Given the description of an element on the screen output the (x, y) to click on. 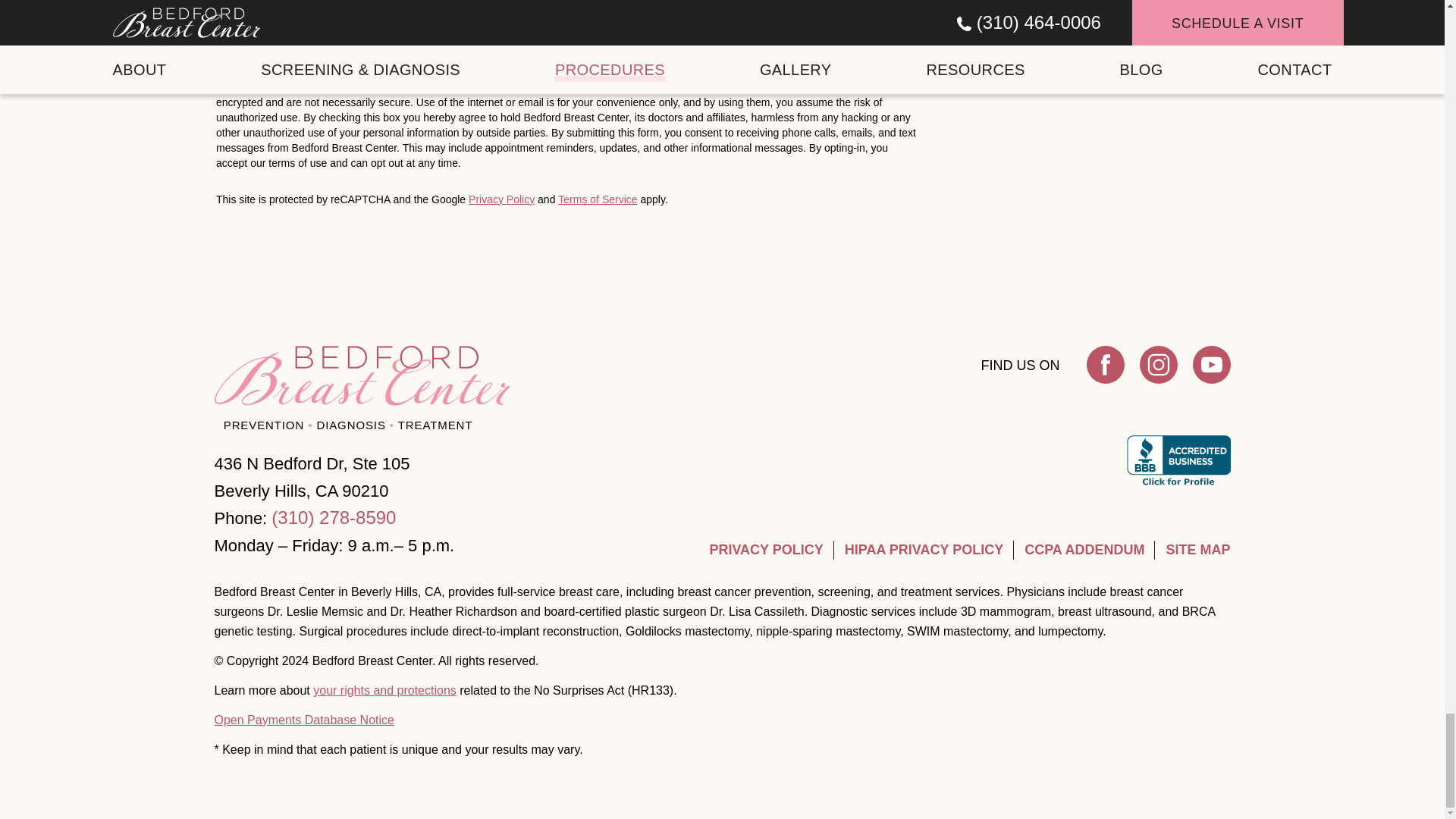
Bedford Breast Center Google Maps location (1084, 70)
checked (223, 20)
checked (223, 48)
